Given the description of an element on the screen output the (x, y) to click on. 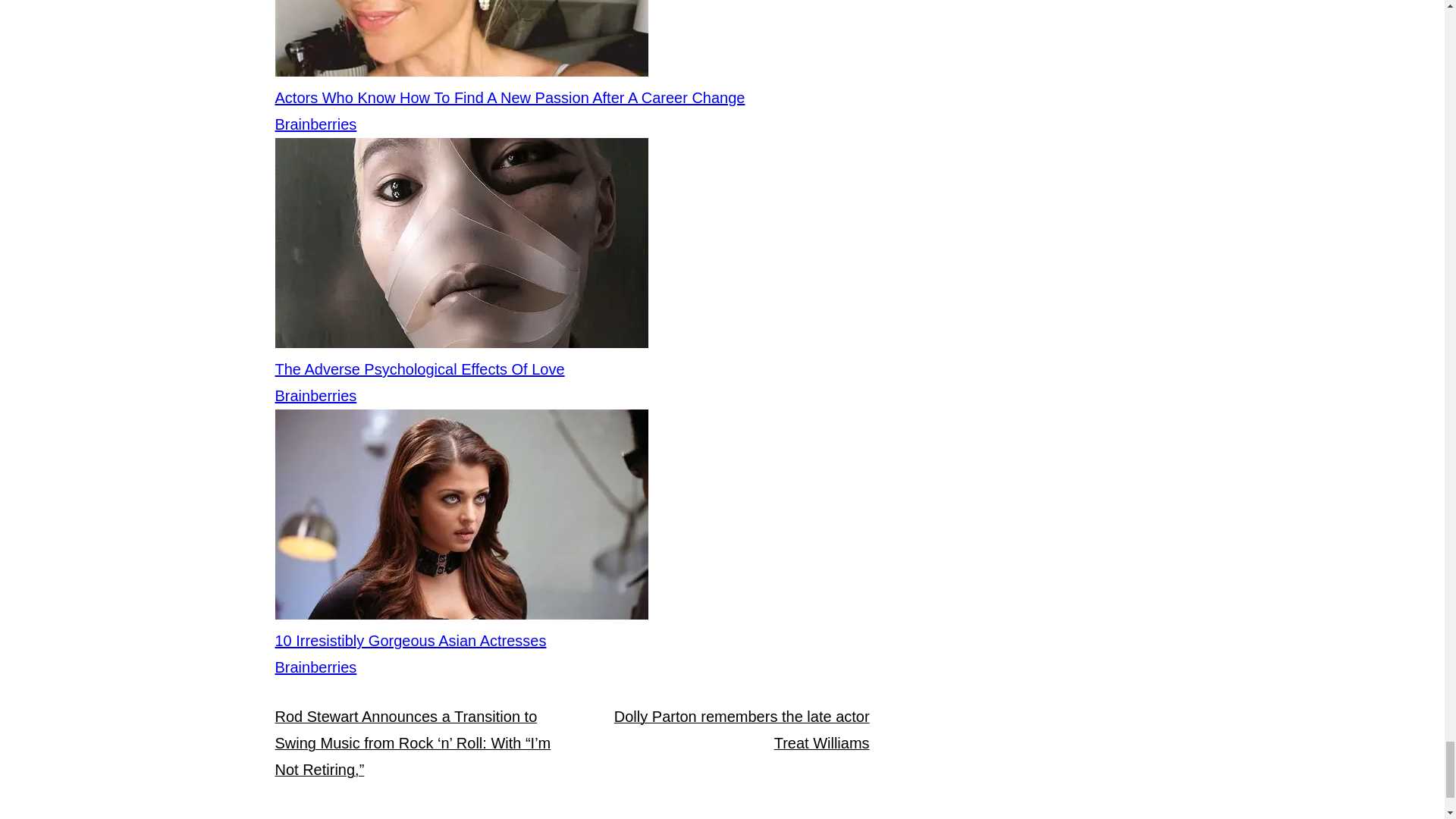
Dolly Parton remembers the late actor Treat Williams (741, 729)
